Given the description of an element on the screen output the (x, y) to click on. 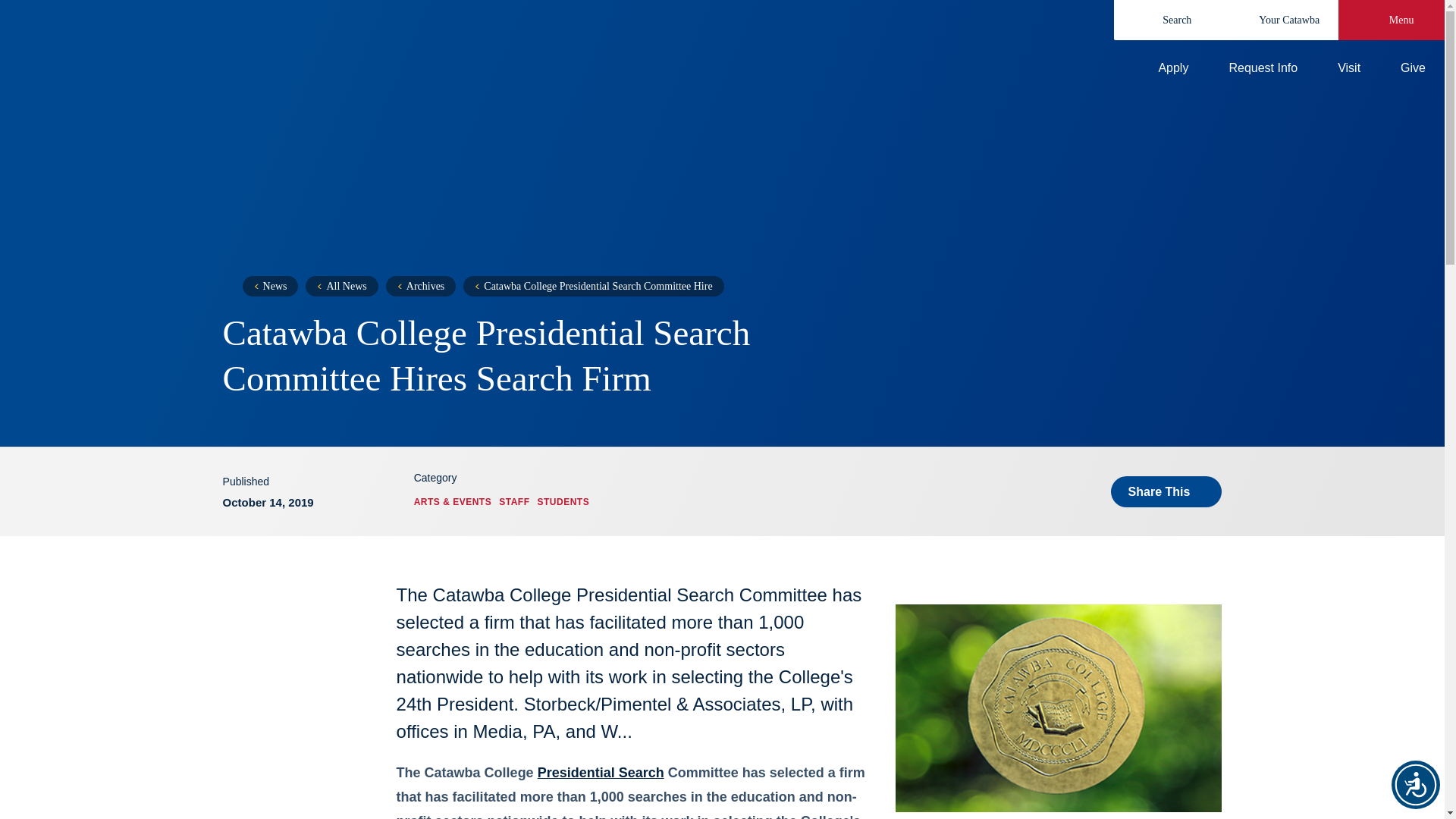
Presidential Search (600, 772)
Give (1400, 68)
Apply (1160, 68)
STUDENTS (563, 501)
Visit (1336, 68)
Archives (421, 286)
News (270, 286)
Share This (1166, 490)
All News (341, 286)
Accessibility Menu (1415, 784)
Catawba College Presidential Search Committee Hire (593, 286)
Request Info (1250, 68)
Catawba College (374, 50)
Your Catawba (1279, 20)
STAFF (514, 501)
